Given the description of an element on the screen output the (x, y) to click on. 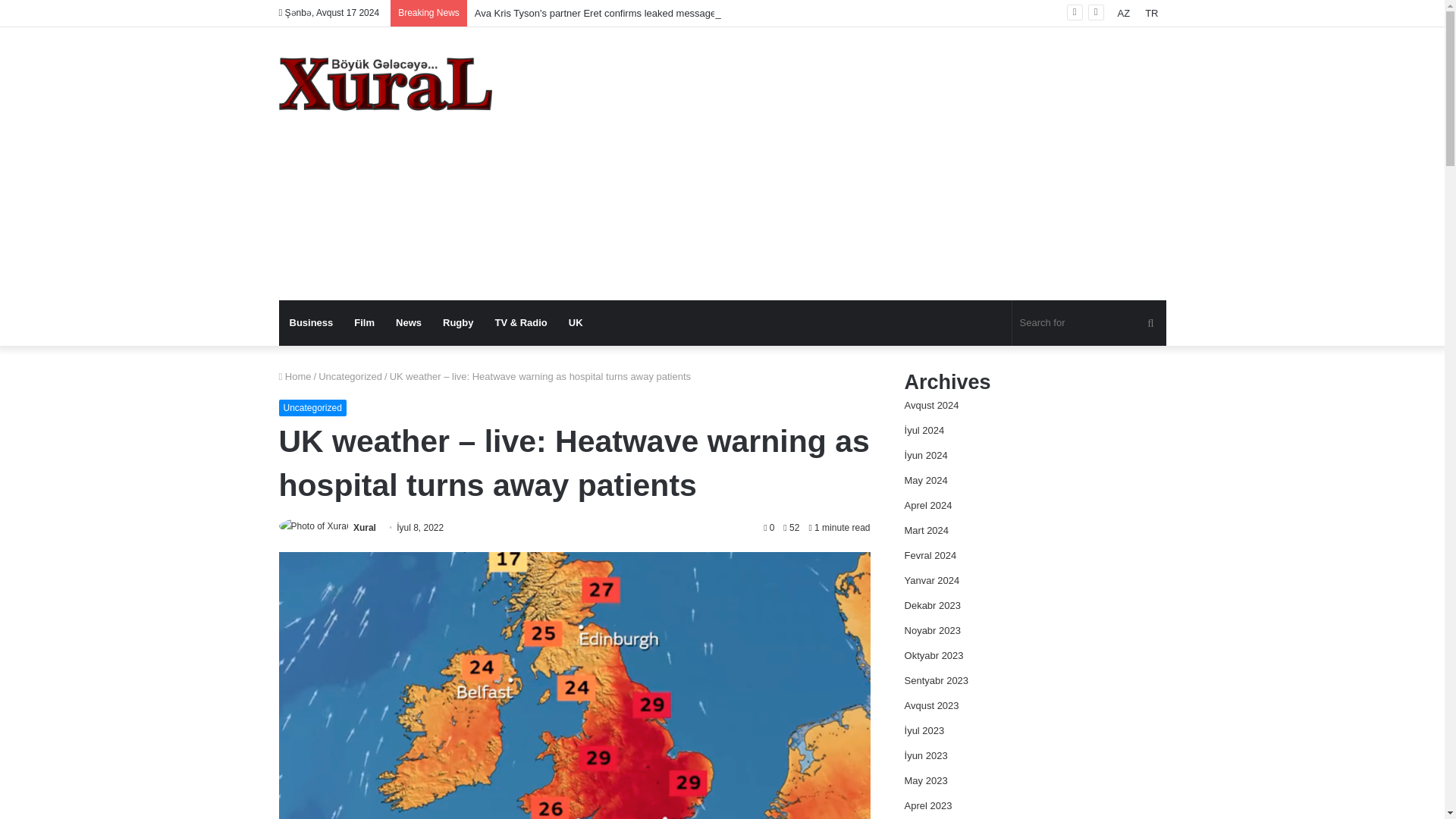
News (408, 322)
Home (295, 376)
YouTube video player (1044, 220)
TR (1151, 13)
Film (364, 322)
Uncategorized (312, 407)
Search for (1088, 322)
AZ (1123, 13)
Rugby (457, 322)
